Given the description of an element on the screen output the (x, y) to click on. 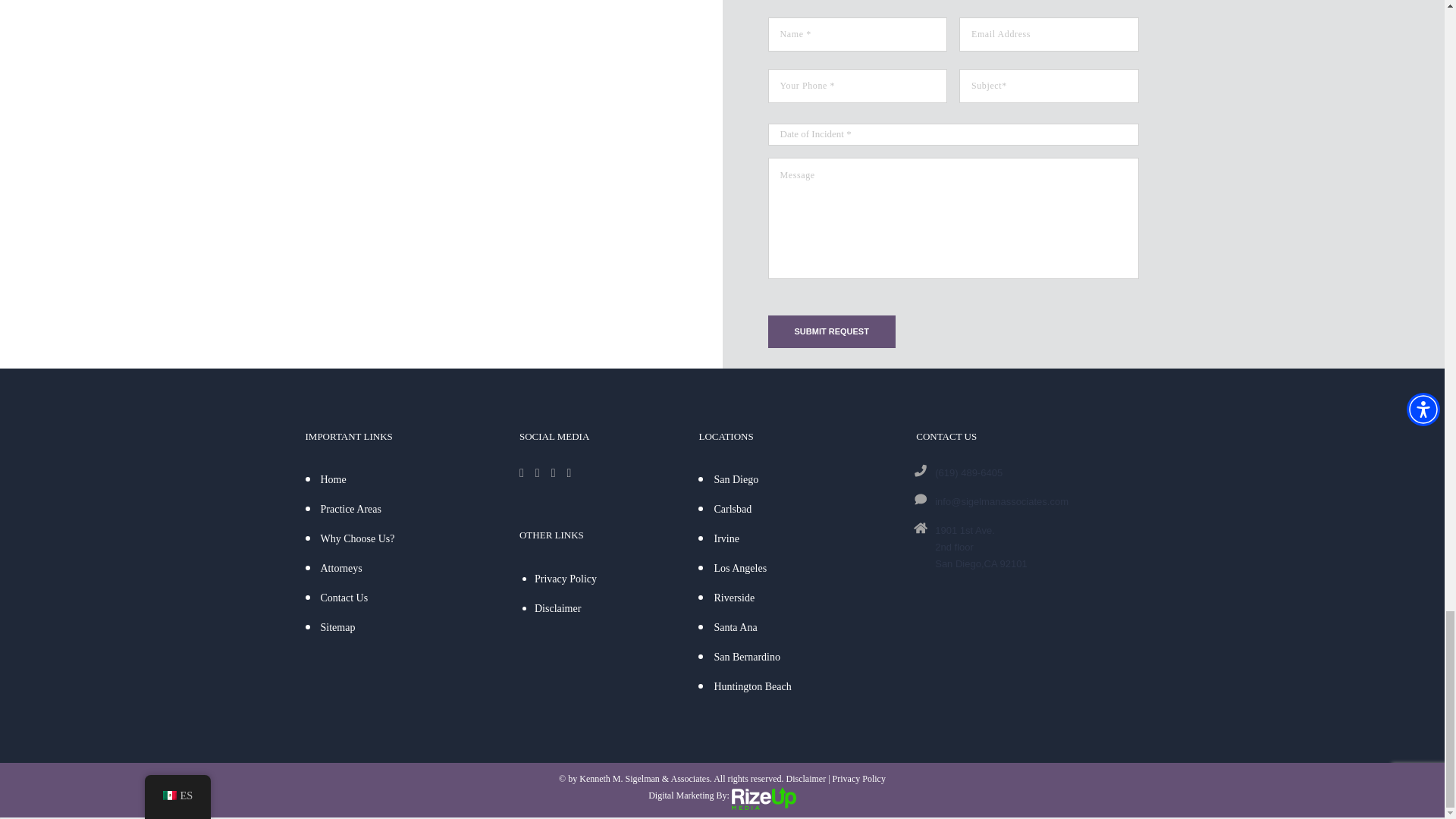
Submit Request (831, 331)
